Given the description of an element on the screen output the (x, y) to click on. 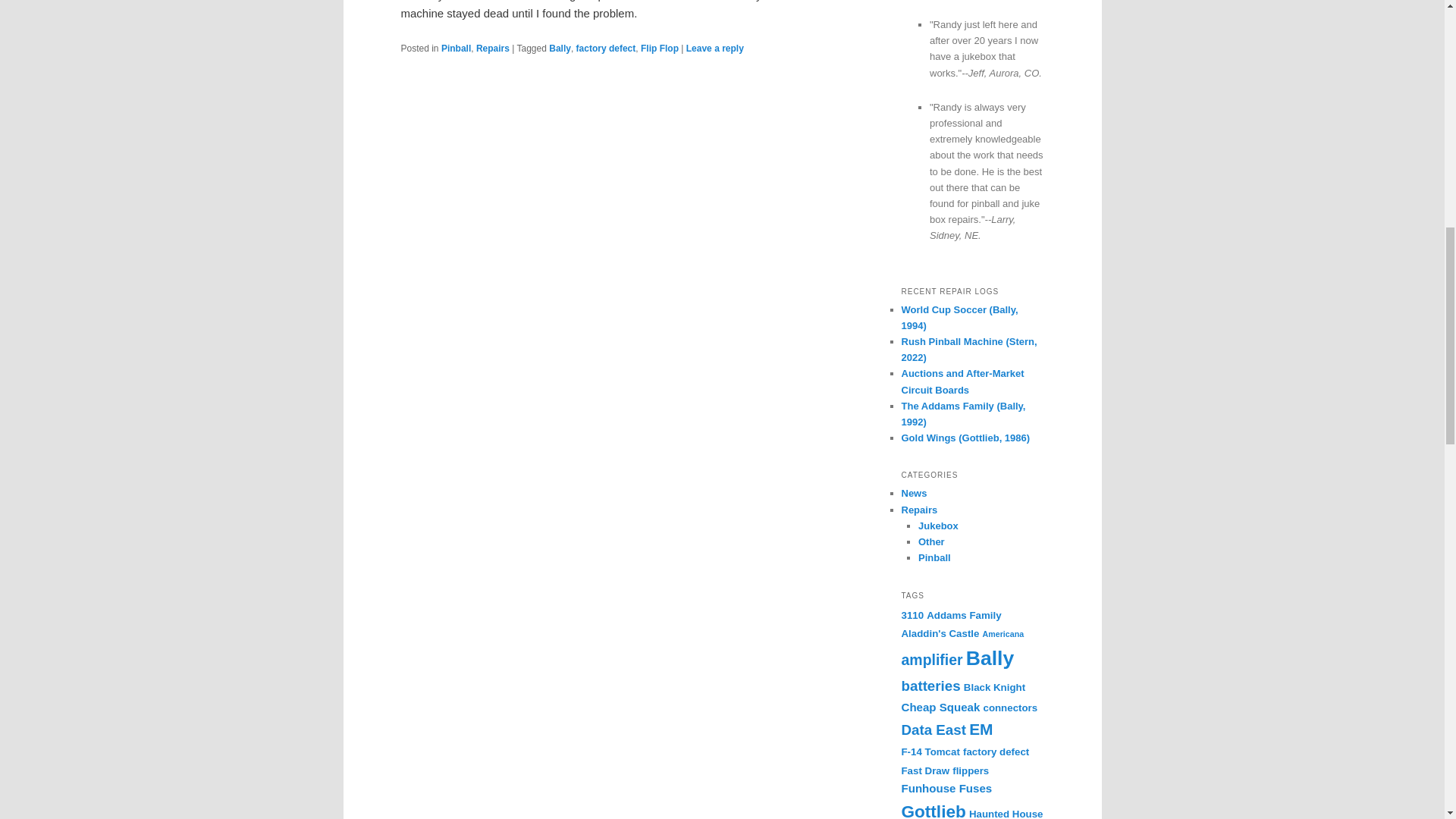
Flip Flop (659, 48)
Cheap Squeak (940, 707)
Data East (933, 729)
Pinball (455, 48)
batteries (930, 685)
connectors (1009, 707)
3110 (912, 614)
Jukebox (938, 525)
Repairs (919, 509)
Black Knight (994, 686)
Pinball (934, 557)
Bally (559, 48)
amplifier (931, 659)
News (913, 492)
Aladdin's Castle (939, 633)
